Given the description of an element on the screen output the (x, y) to click on. 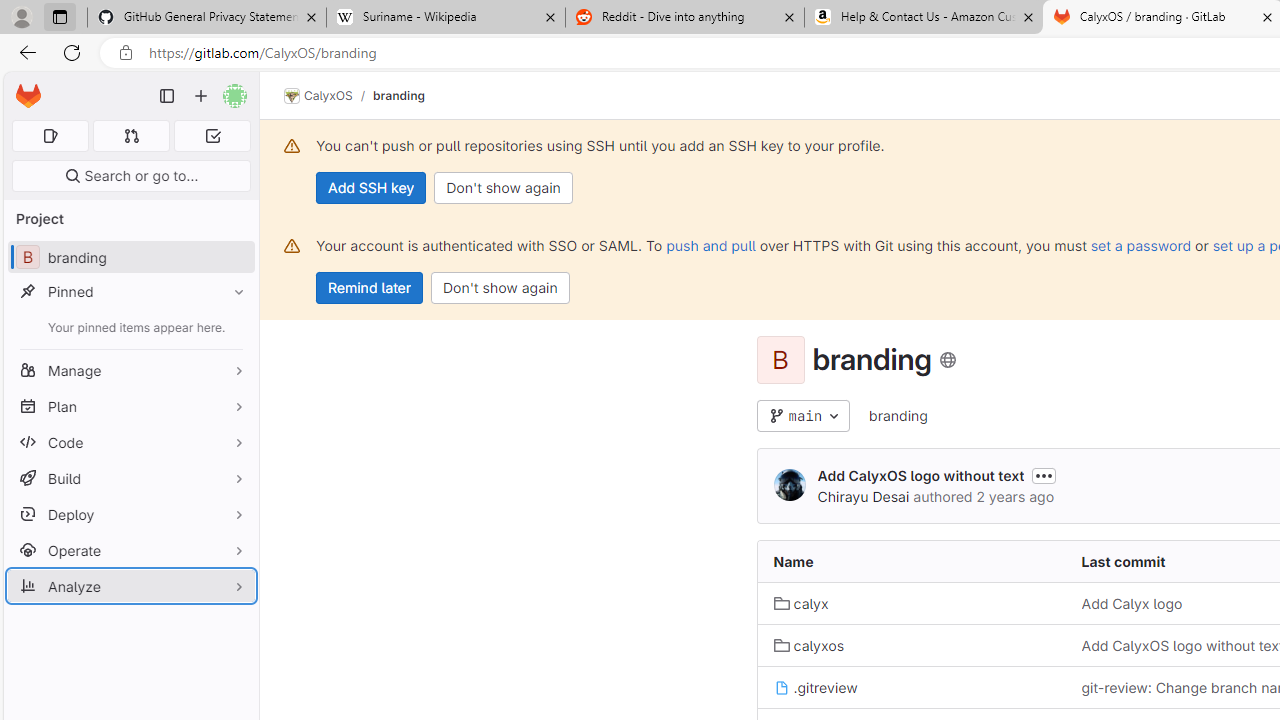
Deploy (130, 514)
Homepage (27, 96)
Class: s16 gl-alert-icon gl-alert-icon-no-title (291, 246)
Analyze (130, 586)
Code (130, 442)
calyxos (808, 645)
Deploy (130, 514)
Add CalyxOS logo without text (920, 475)
set a password (1140, 245)
Class: s16 position-relative file-icon (781, 687)
push and pull (710, 245)
